Given the description of an element on the screen output the (x, y) to click on. 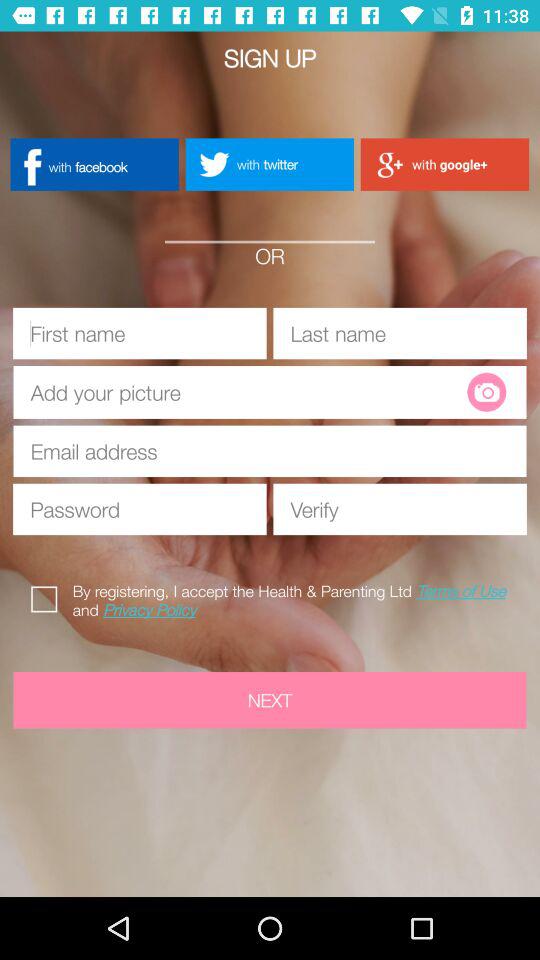
click button next to with twitter button (94, 164)
